Given the description of an element on the screen output the (x, y) to click on. 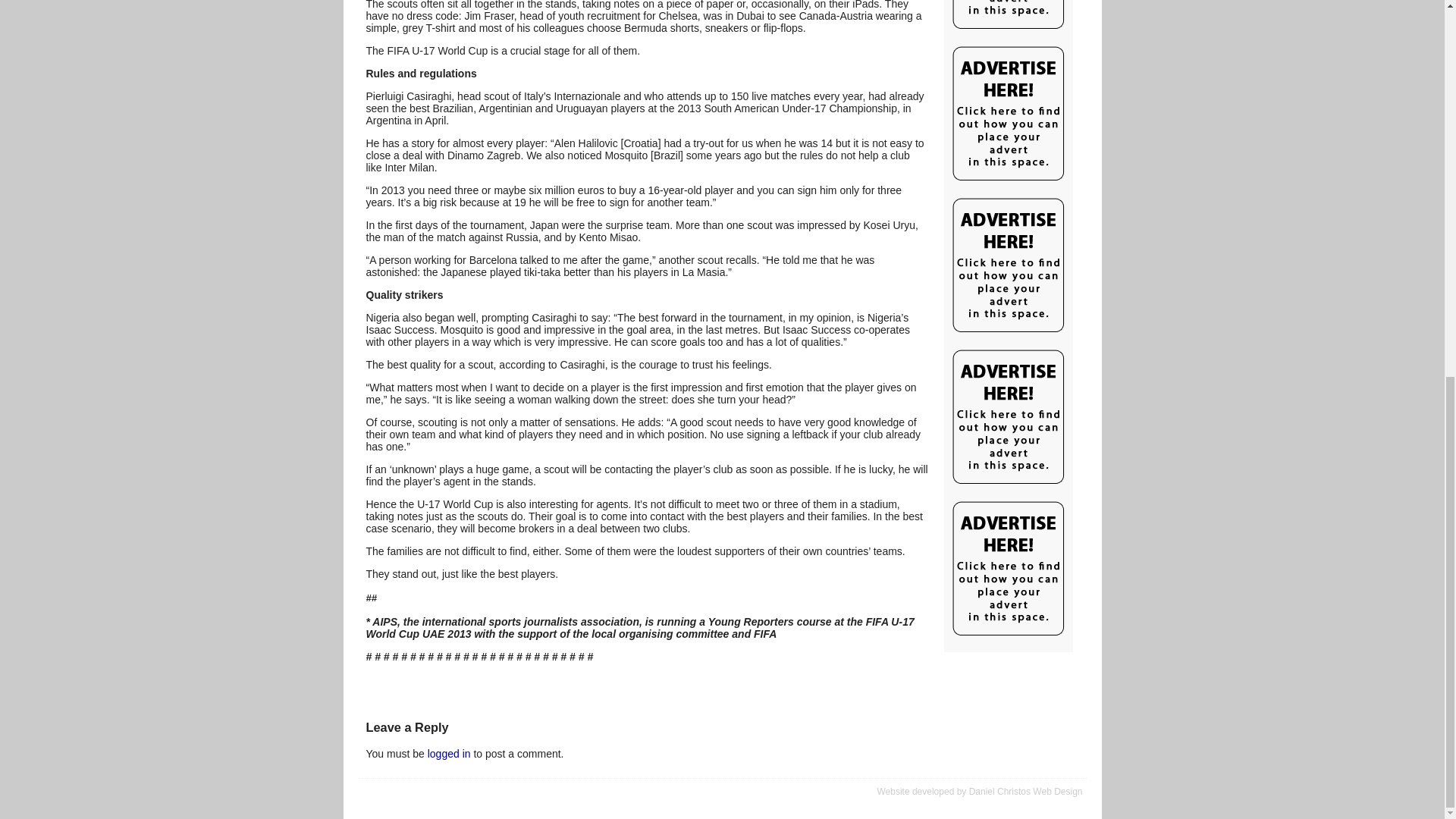
Daniel Christos Web Design (1026, 791)
logged in (449, 753)
